Given the description of an element on the screen output the (x, y) to click on. 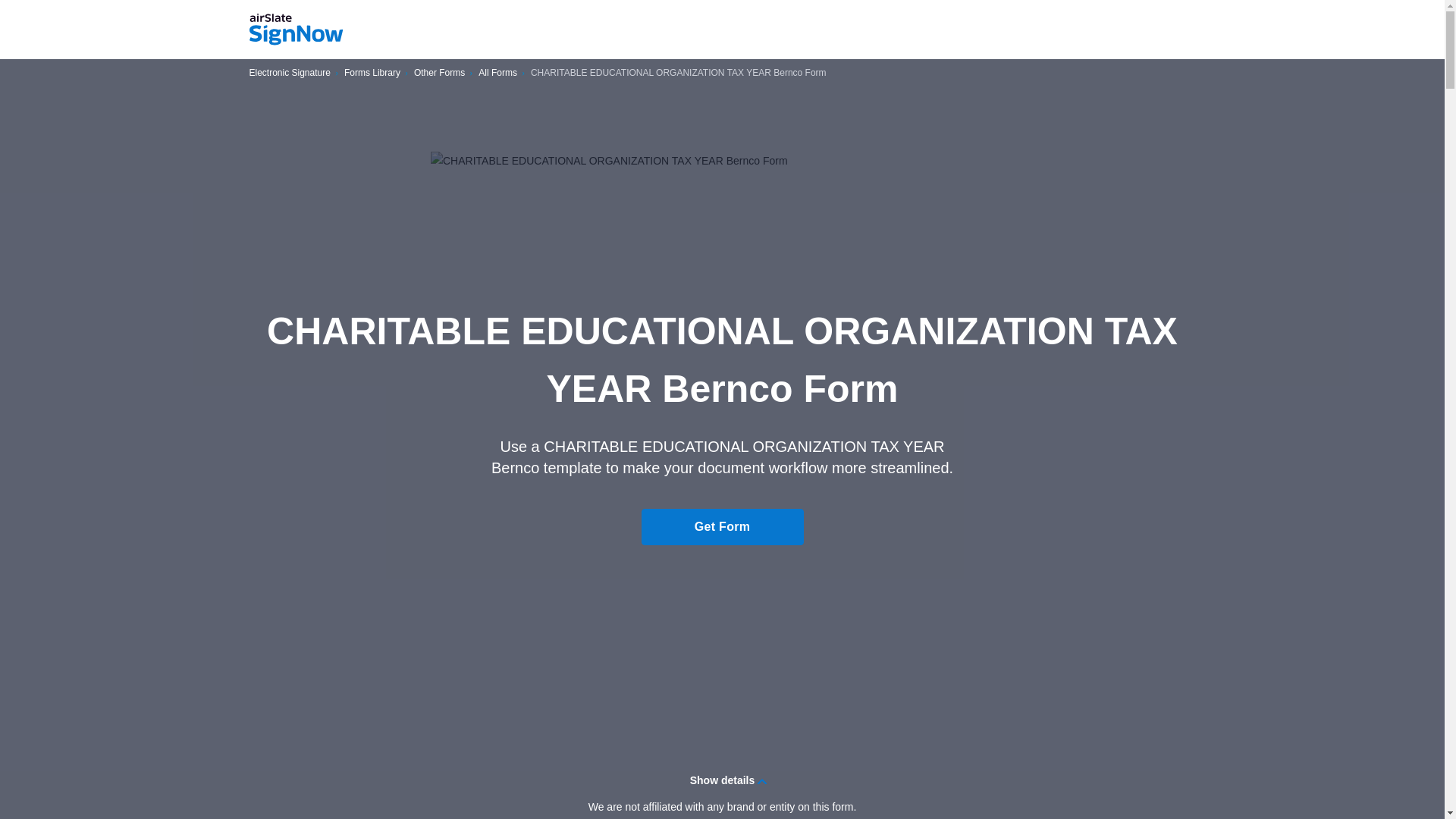
Other Forms (438, 73)
Show details (722, 780)
Electronic Signature (289, 73)
signNow (295, 29)
All Forms (497, 73)
Get Form (722, 526)
Forms Library (371, 73)
